Given the description of an element on the screen output the (x, y) to click on. 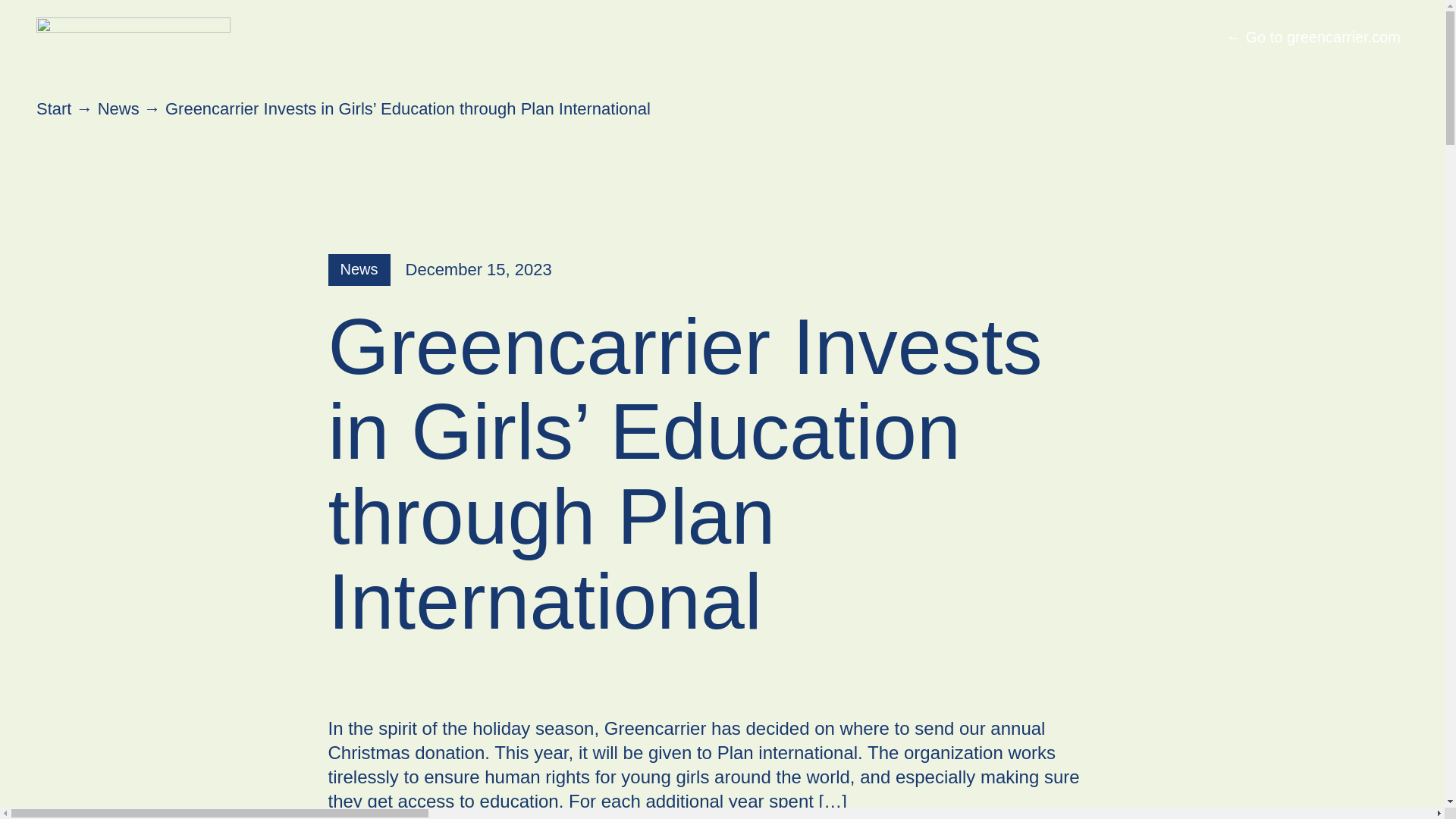
Start (53, 108)
News (358, 269)
News (118, 108)
